Given the description of an element on the screen output the (x, y) to click on. 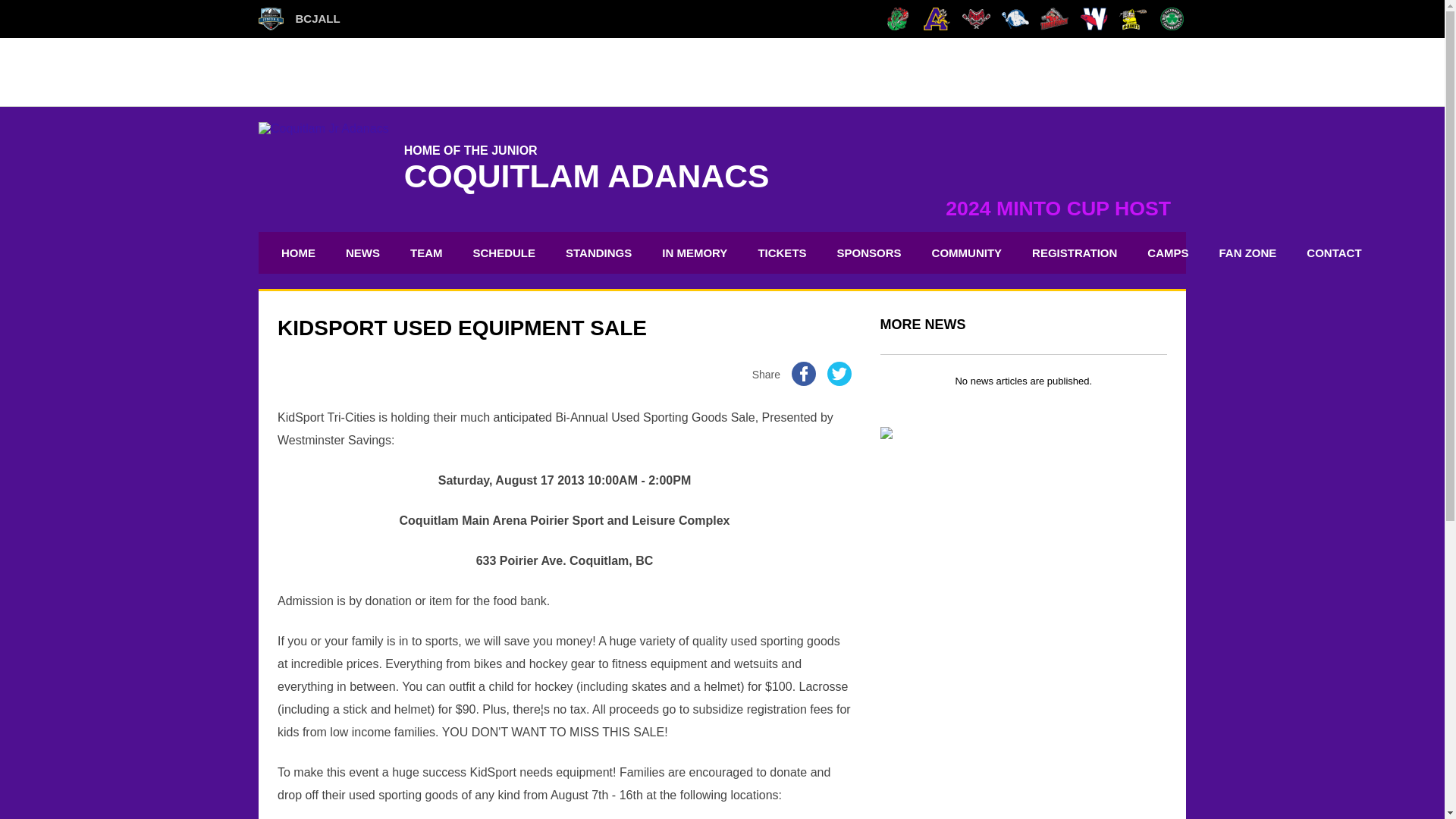
NEWS (362, 252)
TICKETS (780, 252)
2024 MINTO CUP HOST (1057, 208)
REGISTRATION (1074, 252)
BCJALL (299, 18)
HOME (297, 252)
CONTACT (1334, 252)
STANDINGS (598, 252)
CAMPS (1167, 252)
SCHEDULE (504, 252)
